Given the description of an element on the screen output the (x, y) to click on. 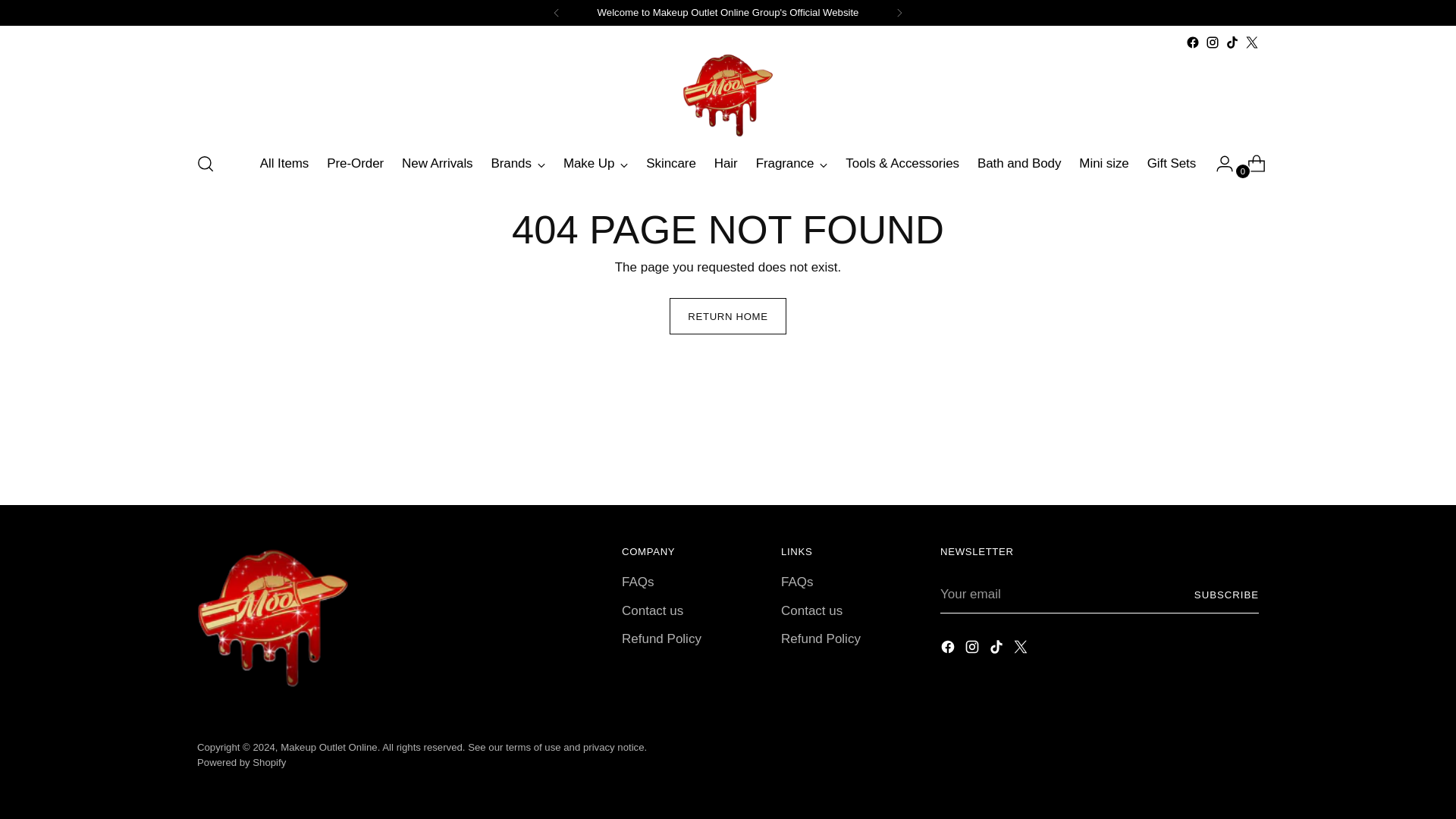
Makeup Outlet Online on Tiktok (997, 649)
Makeup Outlet Online on Facebook (1192, 42)
Makeup Outlet Online on Twitter (1021, 649)
Makeup Outlet Online on Instagram (972, 649)
Makeup Outlet Online on Tiktok (1232, 42)
New Arrivals (436, 163)
Previous (556, 12)
All Items (284, 163)
Makeup Outlet Online on Facebook (949, 649)
Makeup Outlet Online on Instagram (1212, 42)
Pre-Order (355, 163)
Brands (518, 163)
Next (898, 12)
Makeup Outlet Online on Twitter (1251, 42)
